Given the description of an element on the screen output the (x, y) to click on. 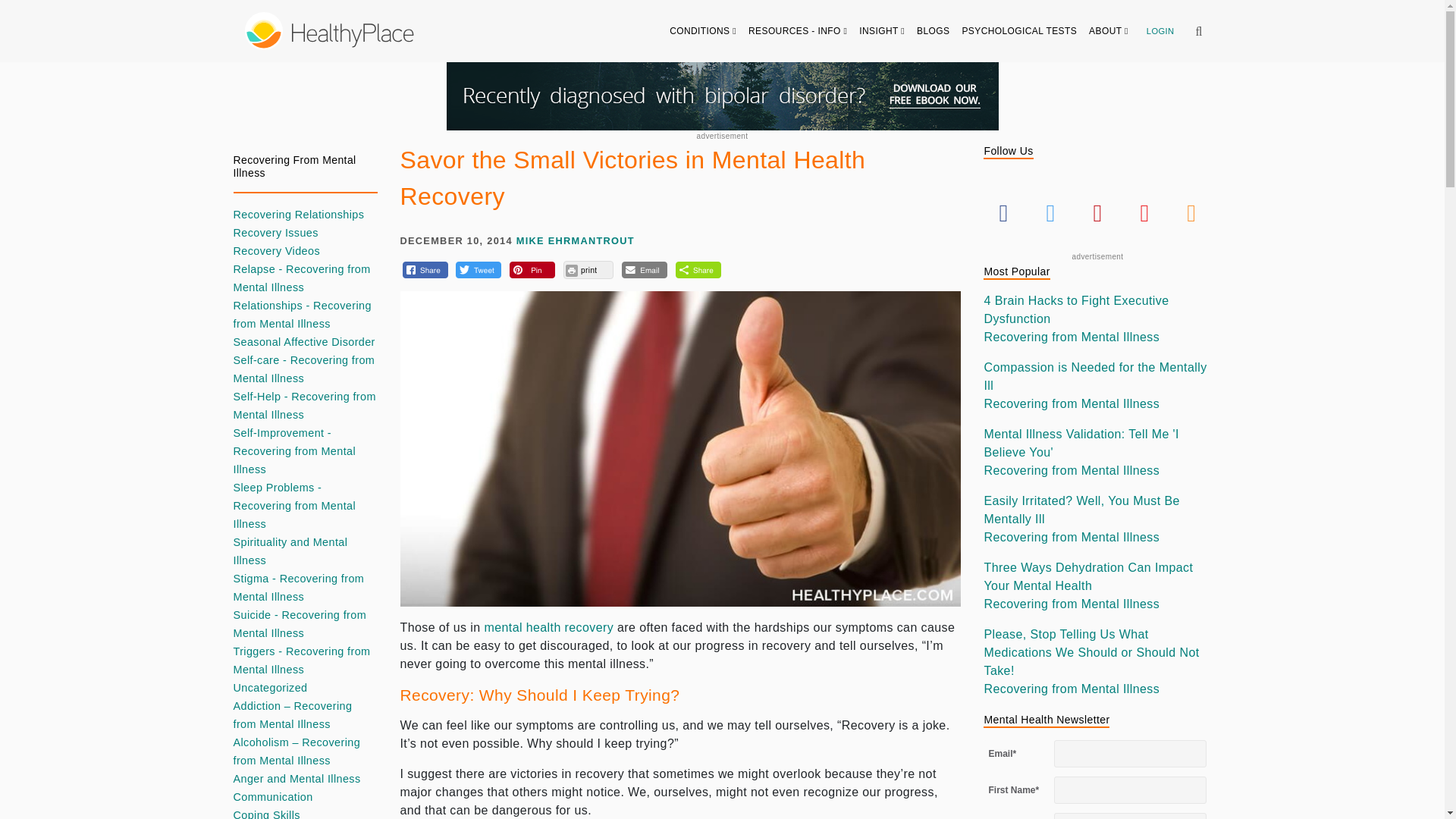
INSIGHT (882, 31)
Get our free bipolar eBook. Click to download. (721, 96)
RESOURCES - INFO (797, 31)
CONDITIONS (702, 31)
Is it Possible to Recover from Chronic Mental Illness? (547, 626)
